Given the description of an element on the screen output the (x, y) to click on. 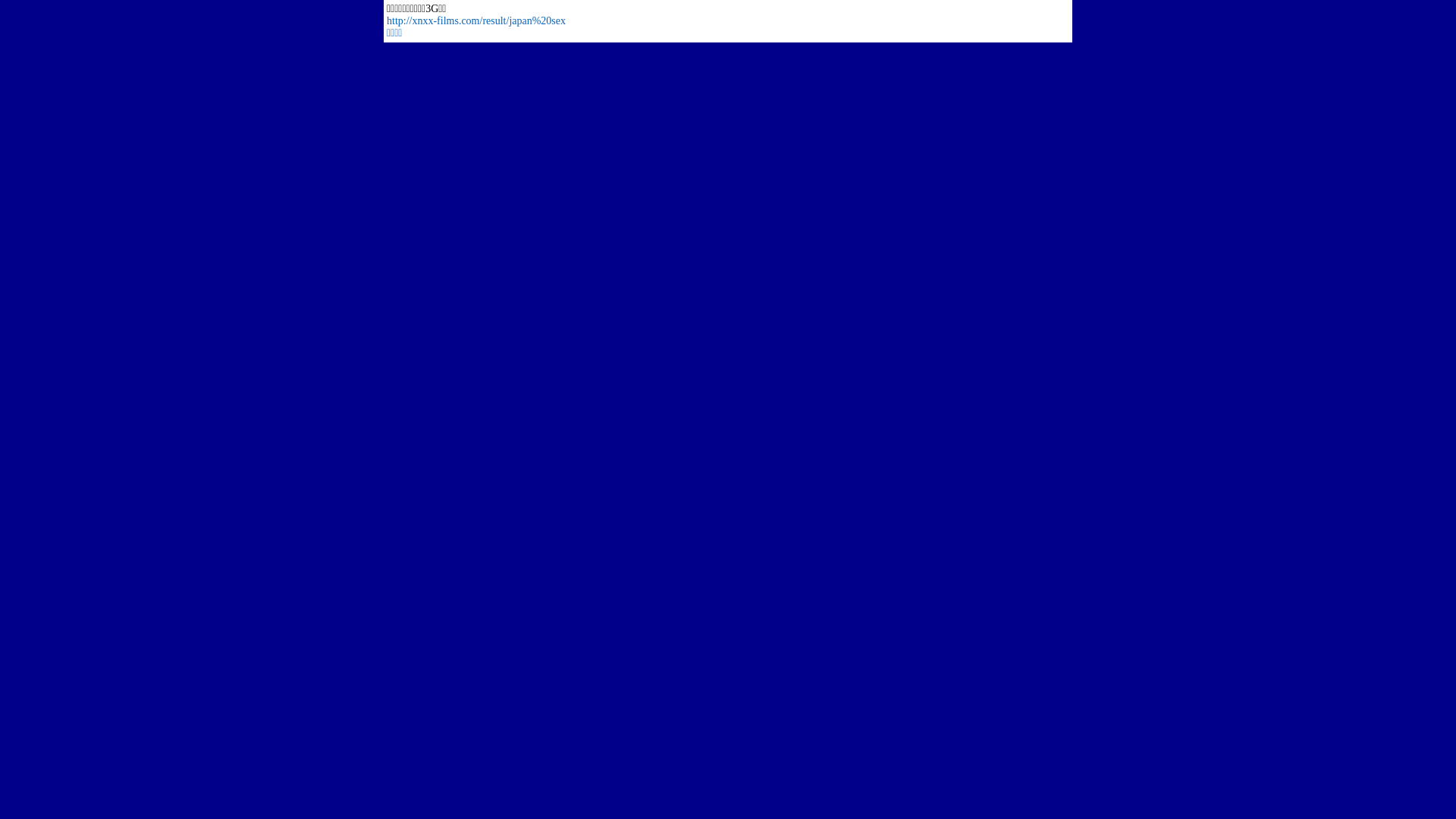
http://xnxx-films.com/result/japan%20sex Element type: text (475, 20)
